Given the description of an element on the screen output the (x, y) to click on. 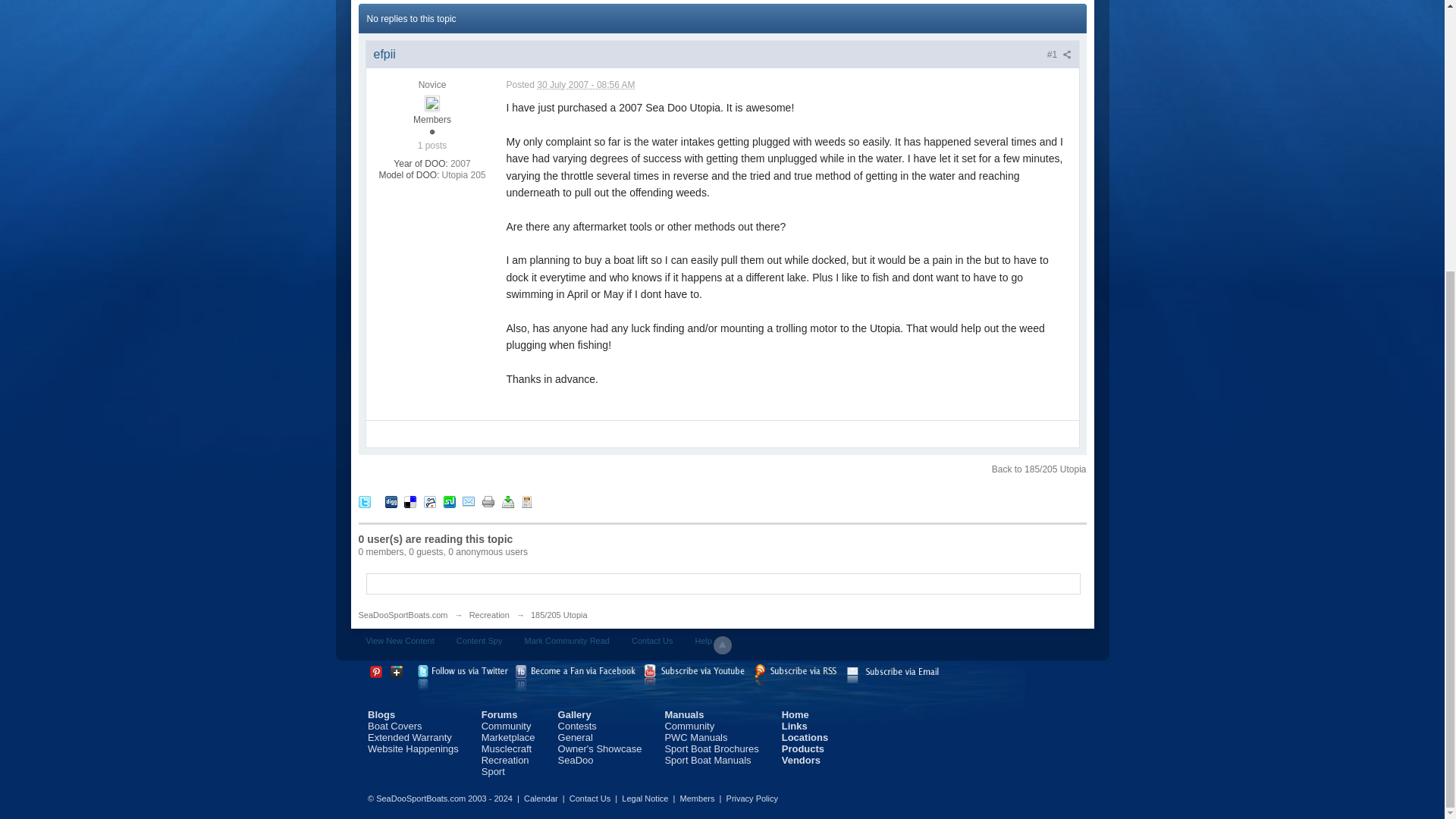
efpii (383, 53)
View Profile (383, 53)
